Given the description of an element on the screen output the (x, y) to click on. 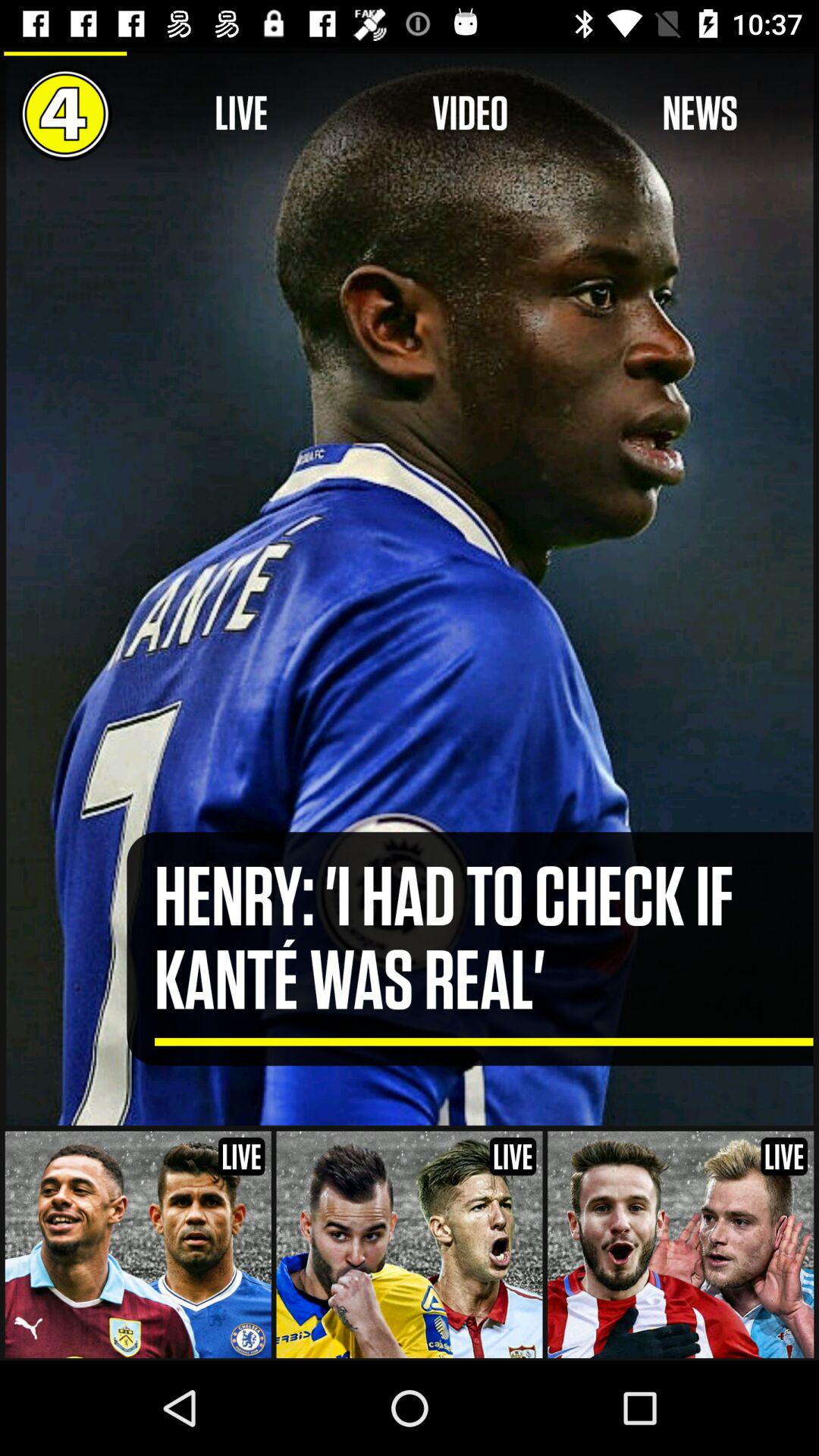
choose the item to the left of the news app (470, 113)
